Given the description of an element on the screen output the (x, y) to click on. 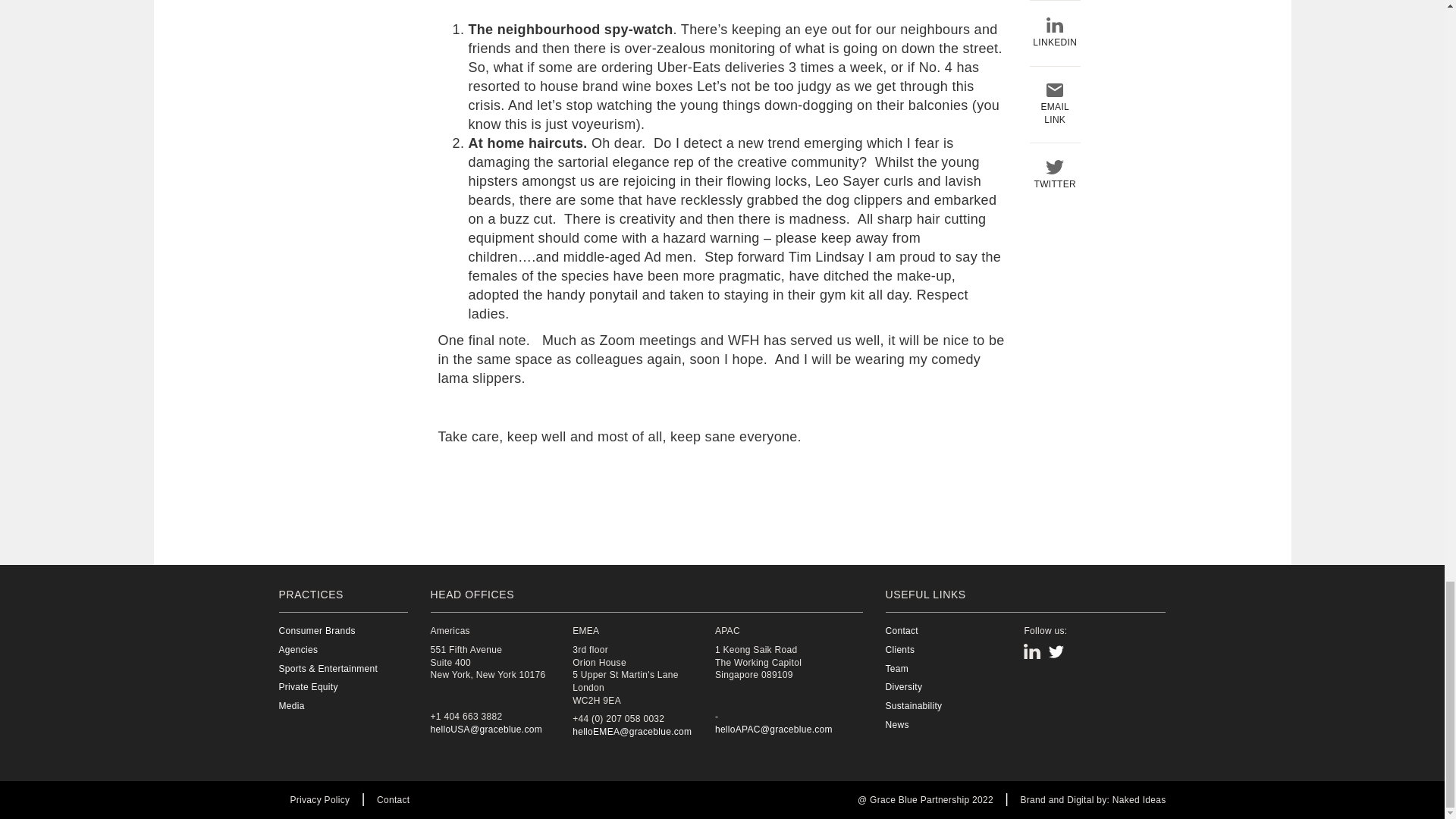
Media (328, 706)
Contact (952, 631)
Consumer Brands (328, 631)
Contact (393, 799)
Team (952, 668)
Privacy Policy (319, 799)
Clients (952, 649)
Sustainability (952, 706)
Agencies (328, 649)
Diversity (952, 686)
